Given the description of an element on the screen output the (x, y) to click on. 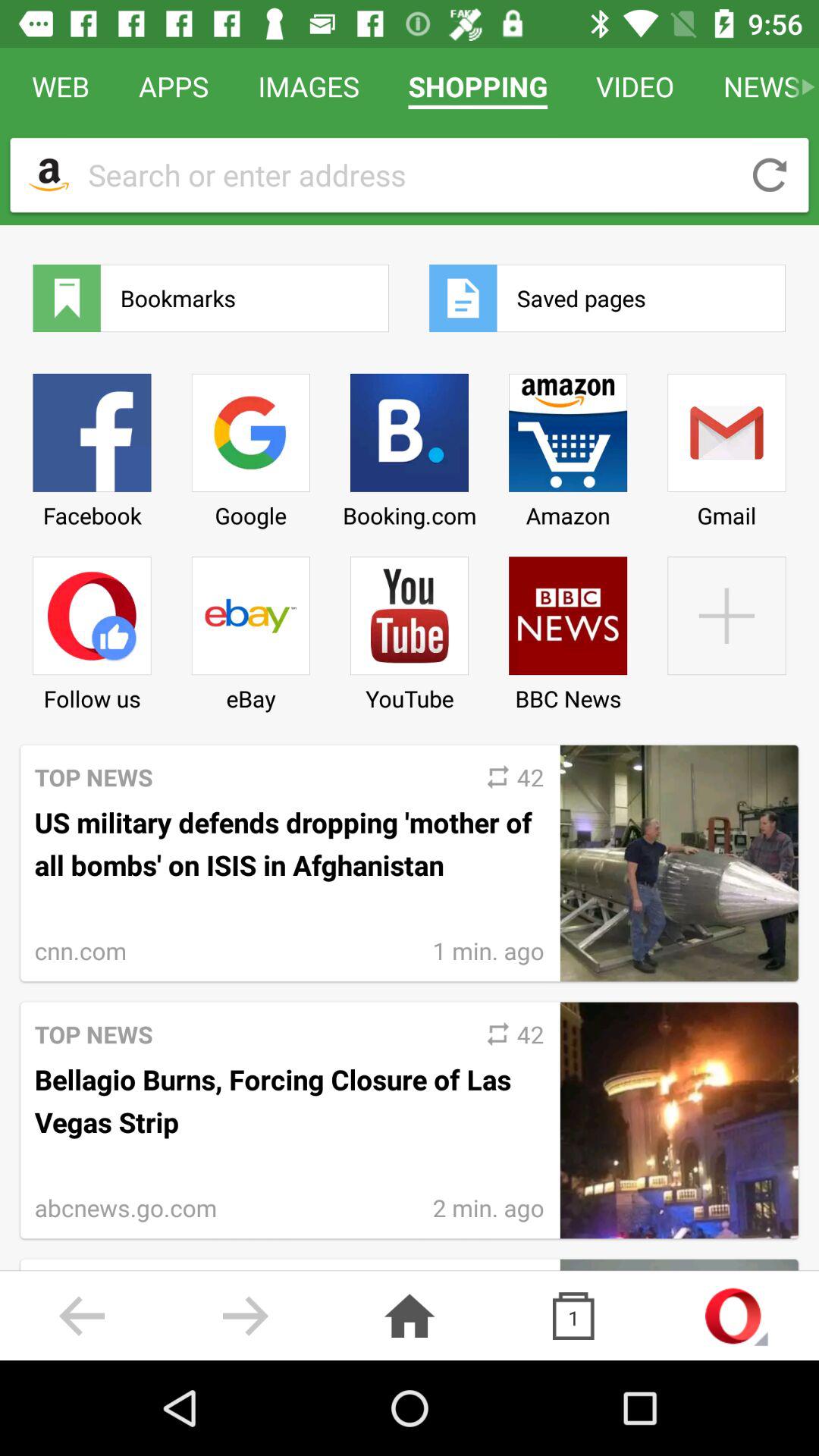
press icon to the left of the images icon (173, 86)
